Given the description of an element on the screen output the (x, y) to click on. 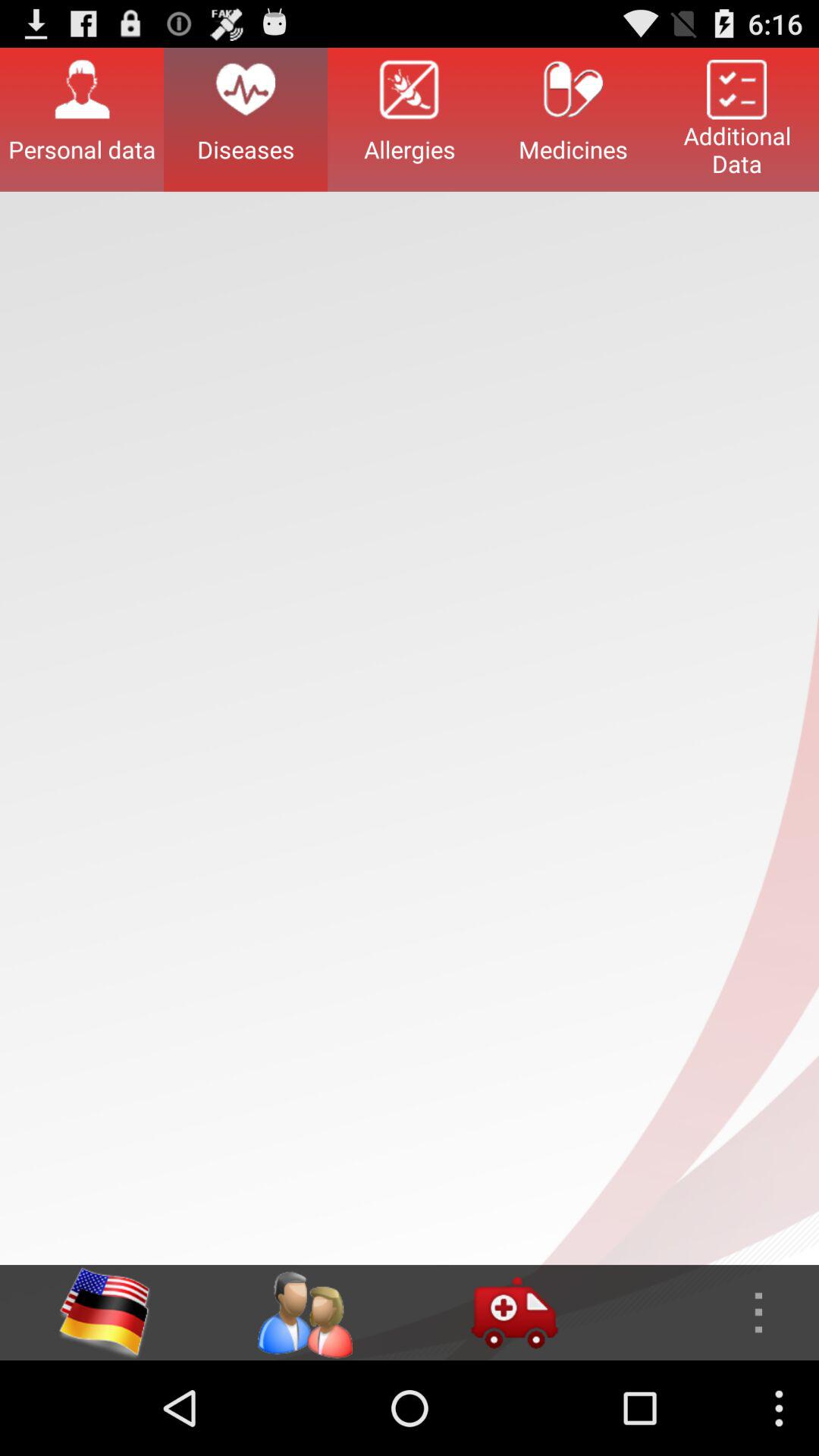
press button next to the diseases item (81, 119)
